Given the description of an element on the screen output the (x, y) to click on. 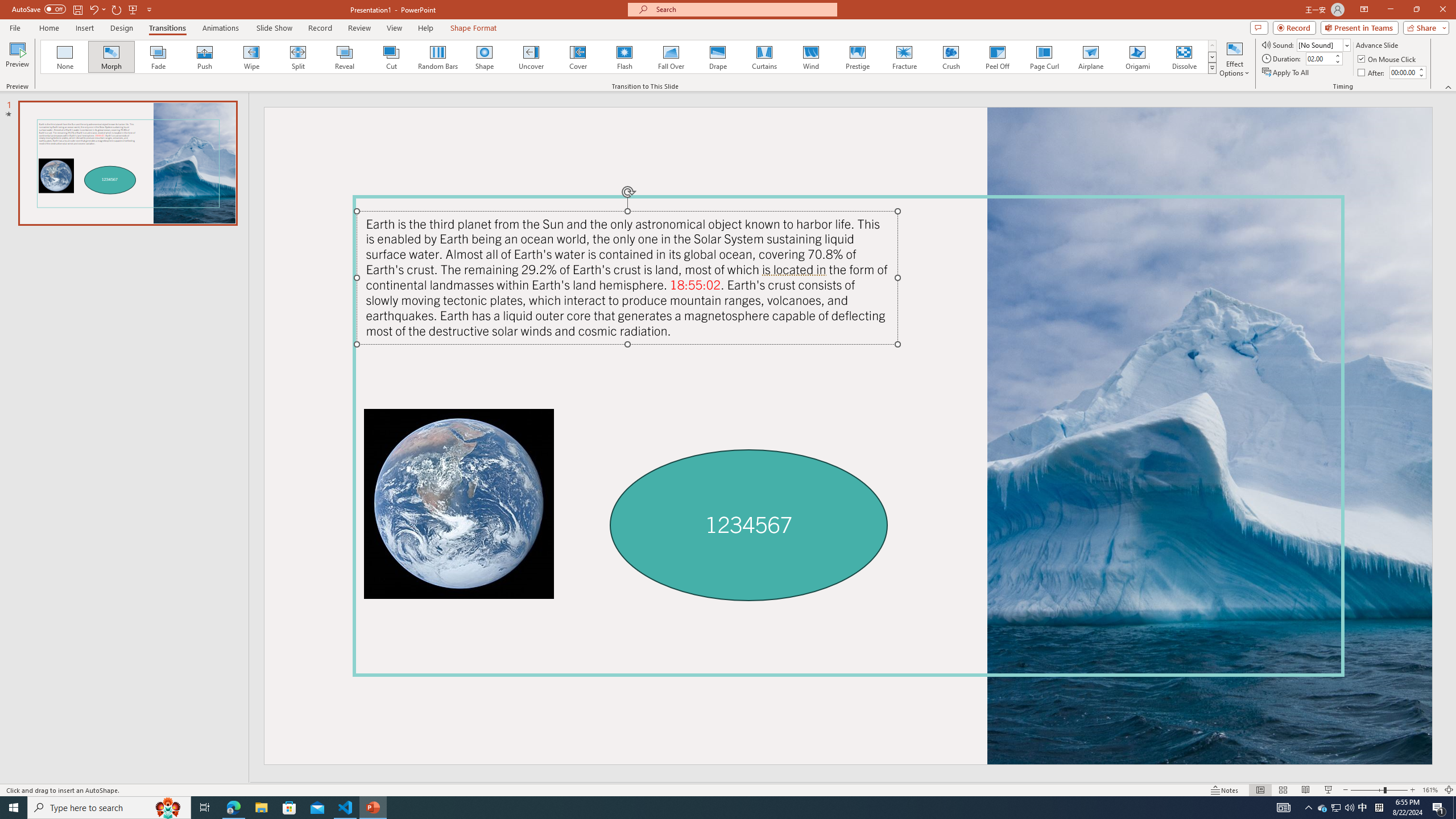
Push (205, 56)
Cover (577, 56)
Morph (111, 56)
Sound (1324, 44)
